Given the description of an element on the screen output the (x, y) to click on. 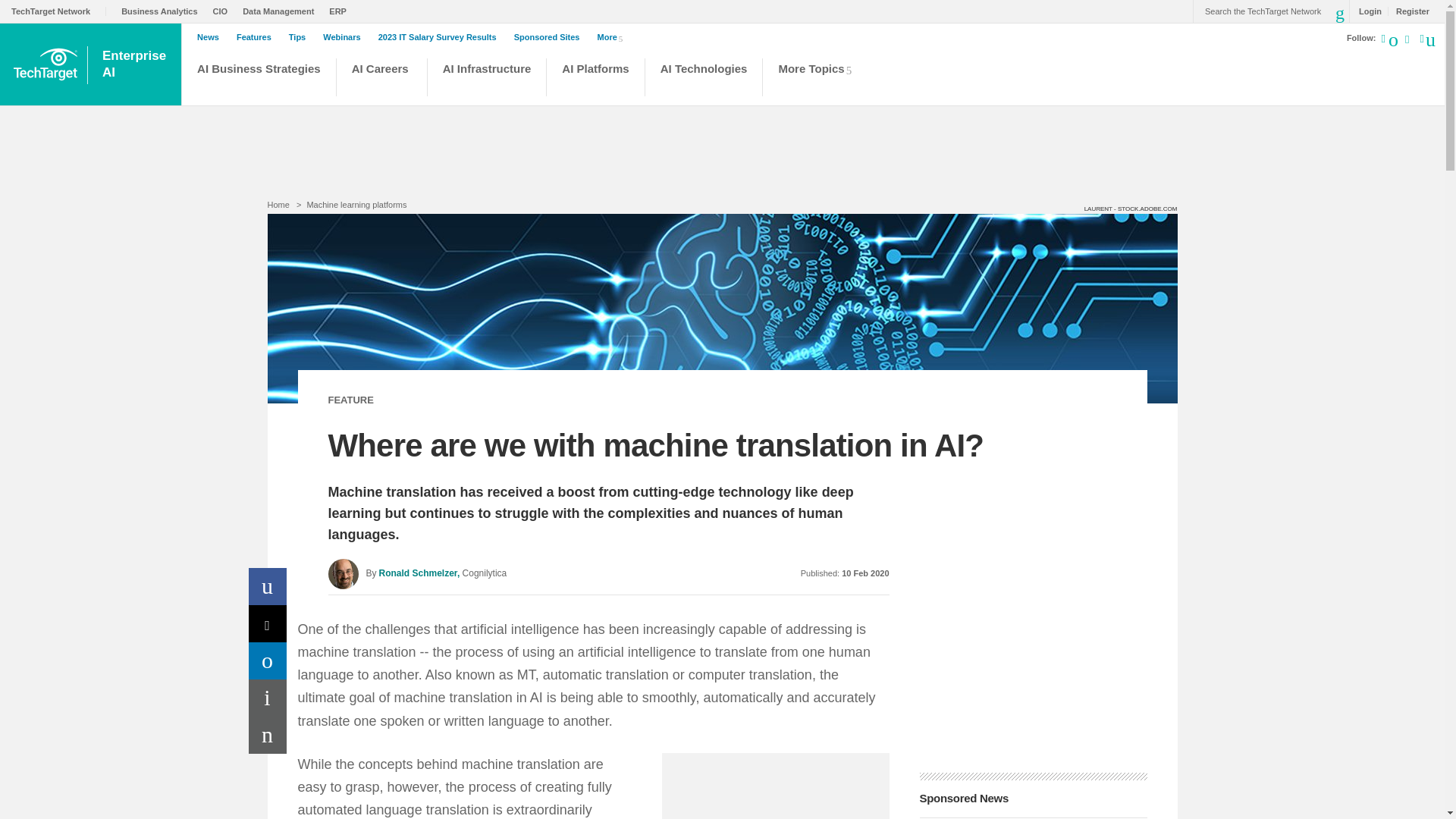
AI Technologies (704, 79)
TechTarget Network (58, 10)
Sponsored Sites (550, 36)
Share on Facebook (267, 586)
Email a Friend (267, 734)
Webinars (345, 36)
AI Business Strategies (258, 79)
Data Management (282, 10)
Tips (300, 36)
News (211, 36)
More (612, 36)
2023 IT Salary Survey Results (135, 64)
AI Platforms (440, 36)
Print This Page (595, 79)
